Given the description of an element on the screen output the (x, y) to click on. 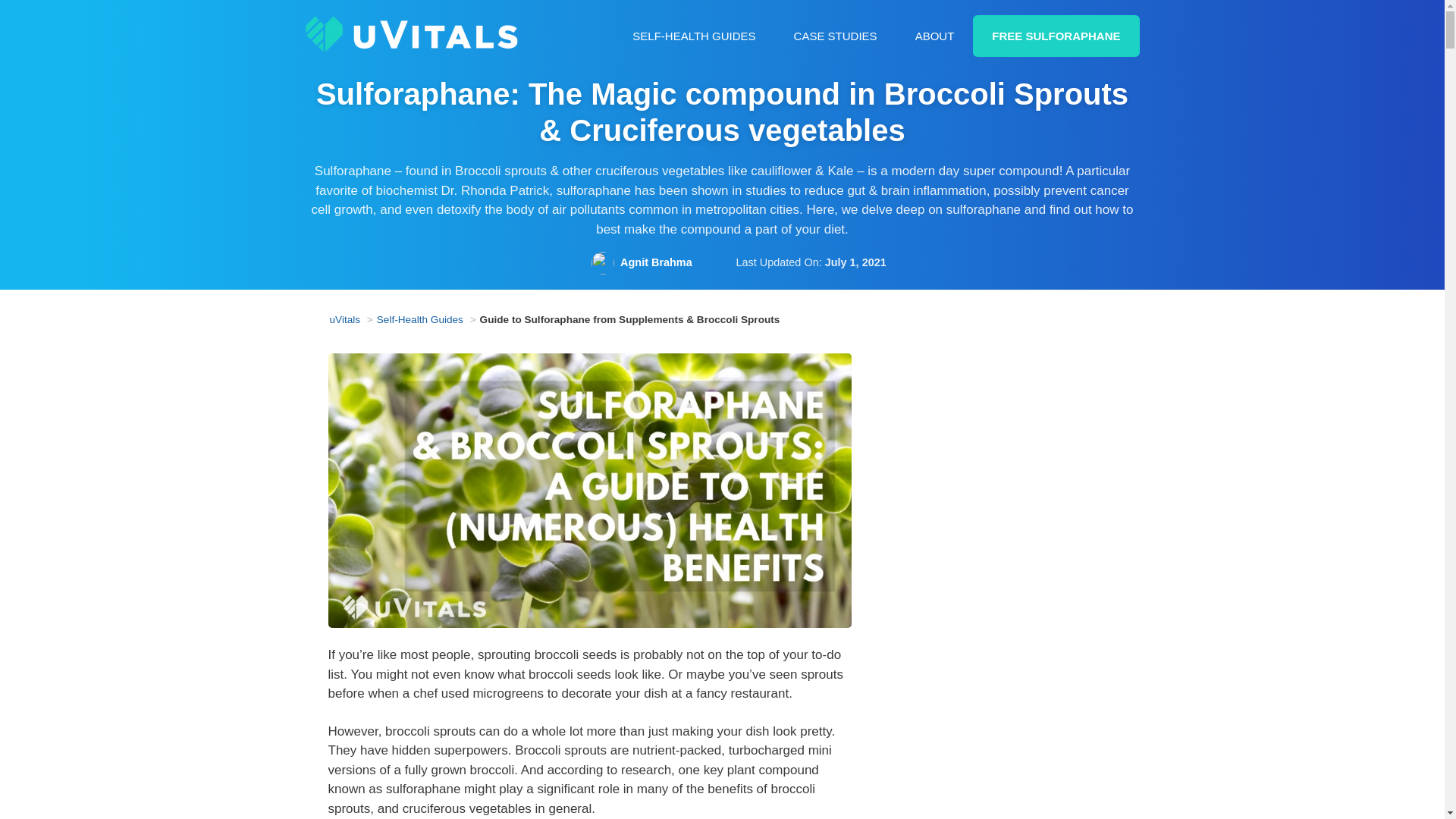
CASE STUDIES (835, 35)
View all posts by Agnit Brahma (656, 262)
uVitals (410, 34)
Try new Sulforaphane supplement for free (1055, 35)
uVitals (344, 319)
Agnit Brahma (656, 262)
uVitals (410, 33)
Self-Health Guides (420, 319)
ABOUT (935, 35)
SELF-HEALTH GUIDES (693, 35)
